Given the description of an element on the screen output the (x, y) to click on. 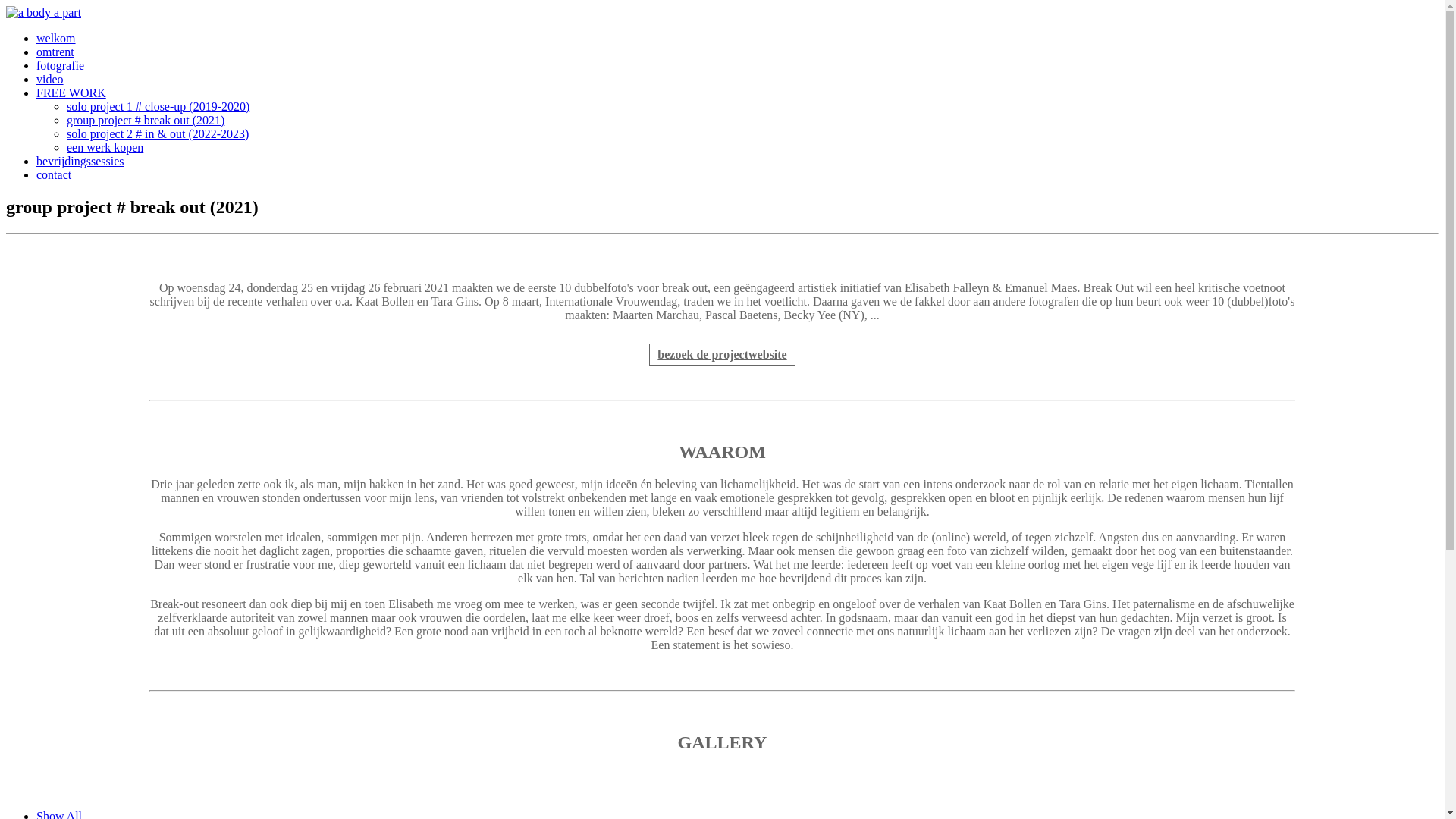
solo project 2 # in & out (2022-2023) Element type: text (157, 133)
bevrijdingssessies Element type: text (80, 160)
bezoek de projectwebsite Element type: text (721, 354)
Skip to main content Element type: text (6, 6)
omtrent Element type: text (55, 51)
FREE WORK Element type: text (71, 92)
solo project 1 # close-up (2019-2020) Element type: text (157, 106)
een werk kopen Element type: text (104, 147)
fotografie Element type: text (60, 65)
group project # break out (2021) Element type: text (145, 119)
a body a part Element type: hover (43, 12)
contact Element type: text (53, 174)
video Element type: text (49, 78)
welkom Element type: text (55, 37)
